Given the description of an element on the screen output the (x, y) to click on. 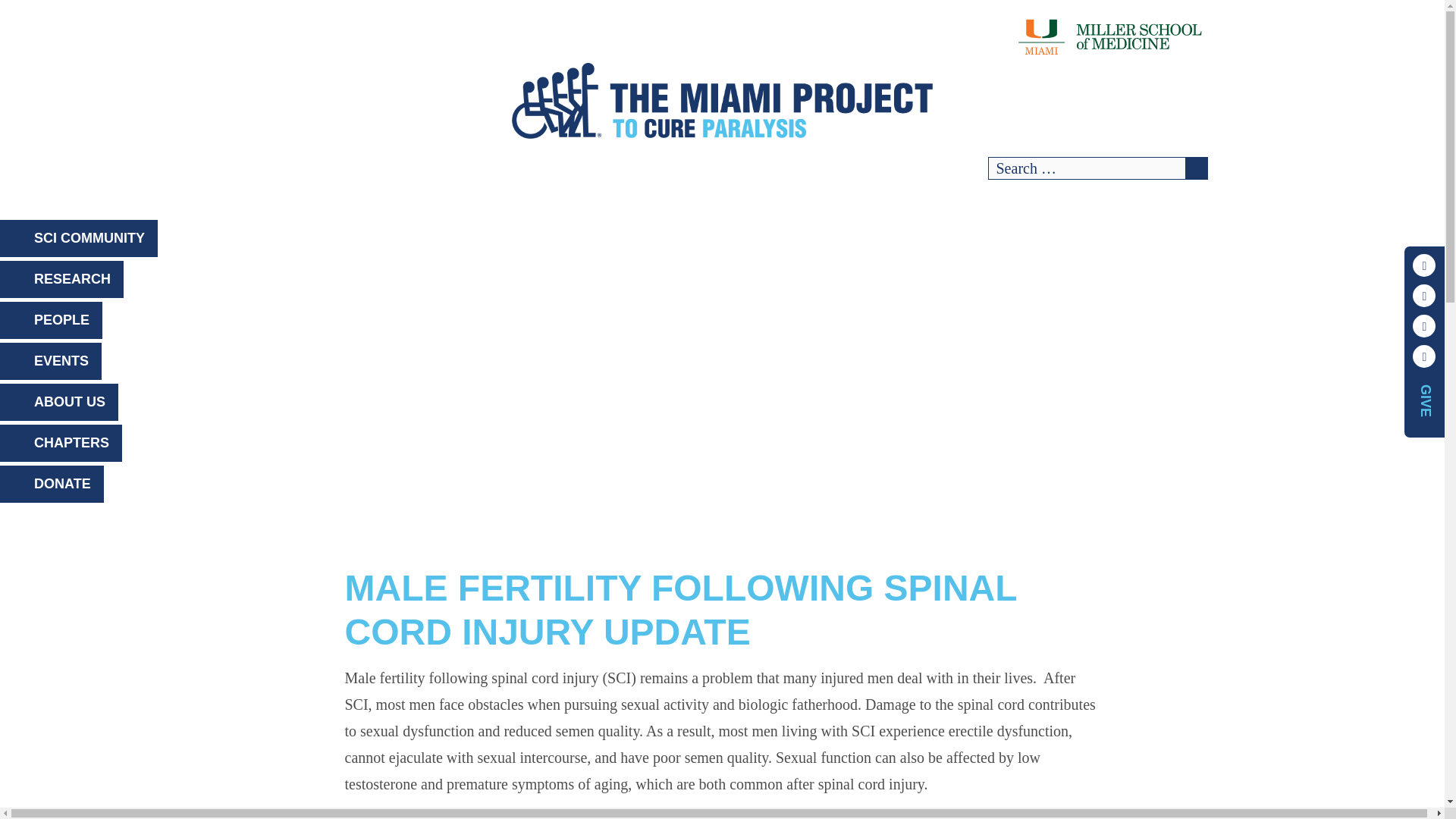
PEOPLE (50, 320)
Search (1196, 168)
YouTube (1423, 325)
CHAPTERS (61, 443)
DONATE (51, 484)
EVENTS (50, 361)
Facebook (1423, 264)
ABOUT US (58, 402)
RESEARCH (61, 279)
SCI COMMUNITY (78, 238)
